Given the description of an element on the screen output the (x, y) to click on. 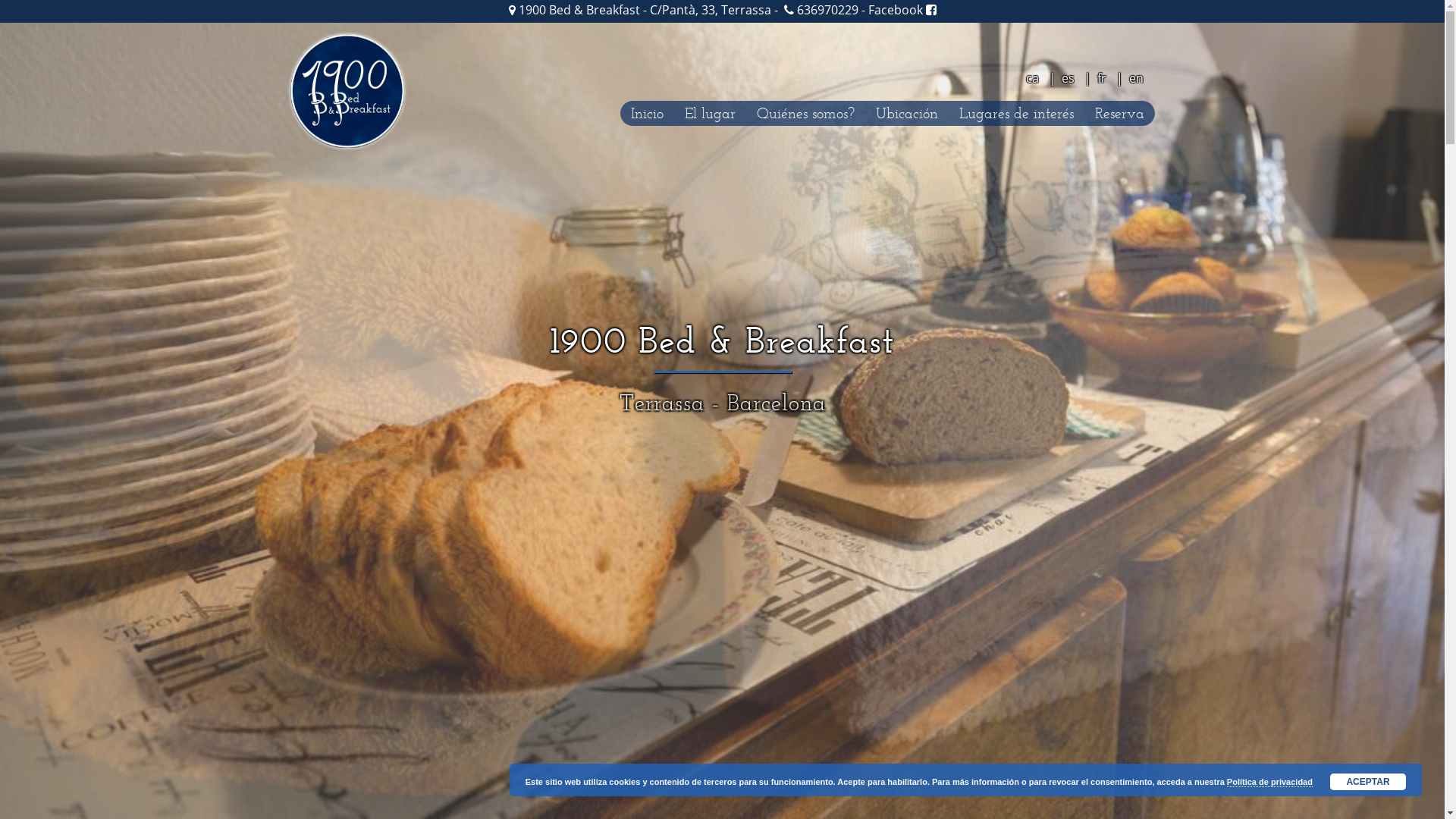
ca Element type: text (1031, 77)
- Facebook Element type: text (897, 9)
El lugar Element type: text (709, 113)
ACEPTAR Element type: text (1367, 781)
fr Element type: text (1100, 77)
en Element type: text (1135, 77)
es Element type: text (1067, 77)
Reserva Element type: text (1119, 113)
1900 Bed & Breakfast Element type: hover (346, 89)
Inicio Element type: text (646, 113)
